Given the description of an element on the screen output the (x, y) to click on. 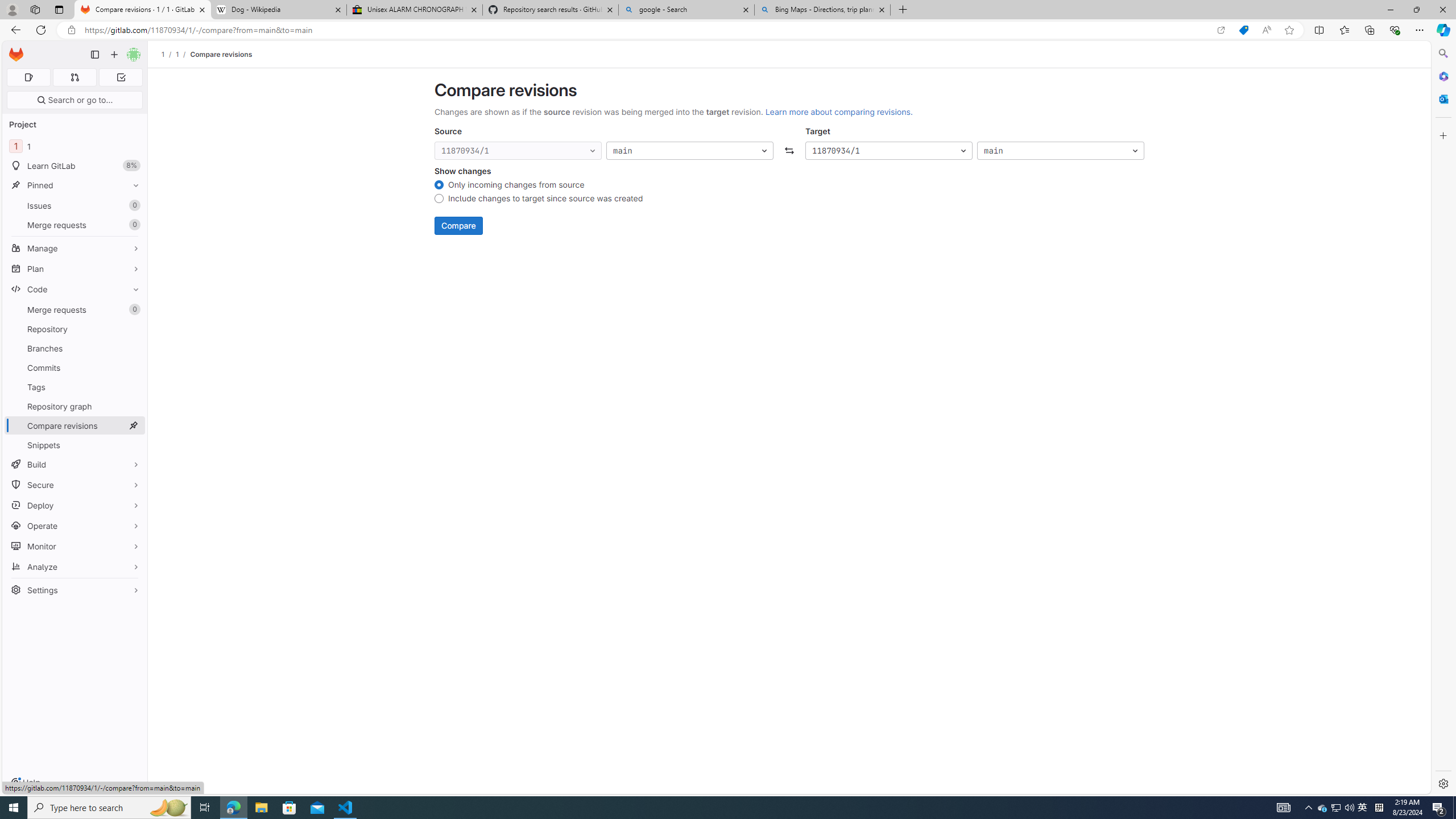
Branches (74, 348)
1 (177, 53)
Tags (74, 386)
Pin Tags (132, 386)
Branches (74, 348)
Commits (74, 367)
Only incoming changes from source (438, 186)
Primary navigation sidebar (94, 54)
Pin Repository graph (132, 406)
Merge requests 0 (74, 76)
